Given the description of an element on the screen output the (x, y) to click on. 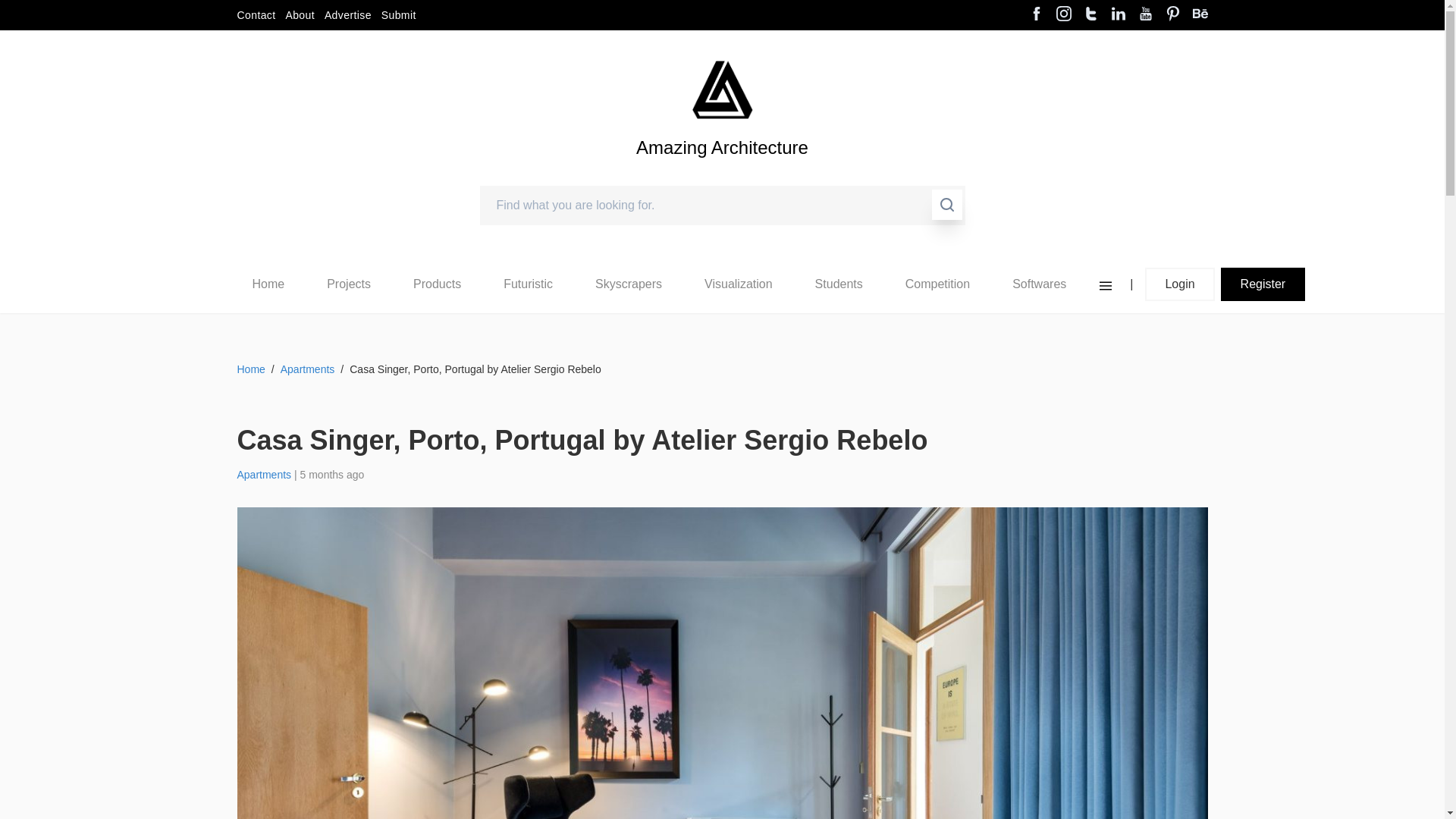
Submit (398, 15)
Home (267, 284)
Amazing Architecture (722, 173)
Submit page (398, 15)
Advertise (347, 15)
About (299, 15)
Projects (348, 283)
Projects (348, 283)
Contact (255, 15)
Amazing Architecture (721, 88)
Futuristic (528, 283)
Home (267, 283)
Products (437, 283)
Amazing Architecture (722, 173)
About us page (299, 15)
